Given the description of an element on the screen output the (x, y) to click on. 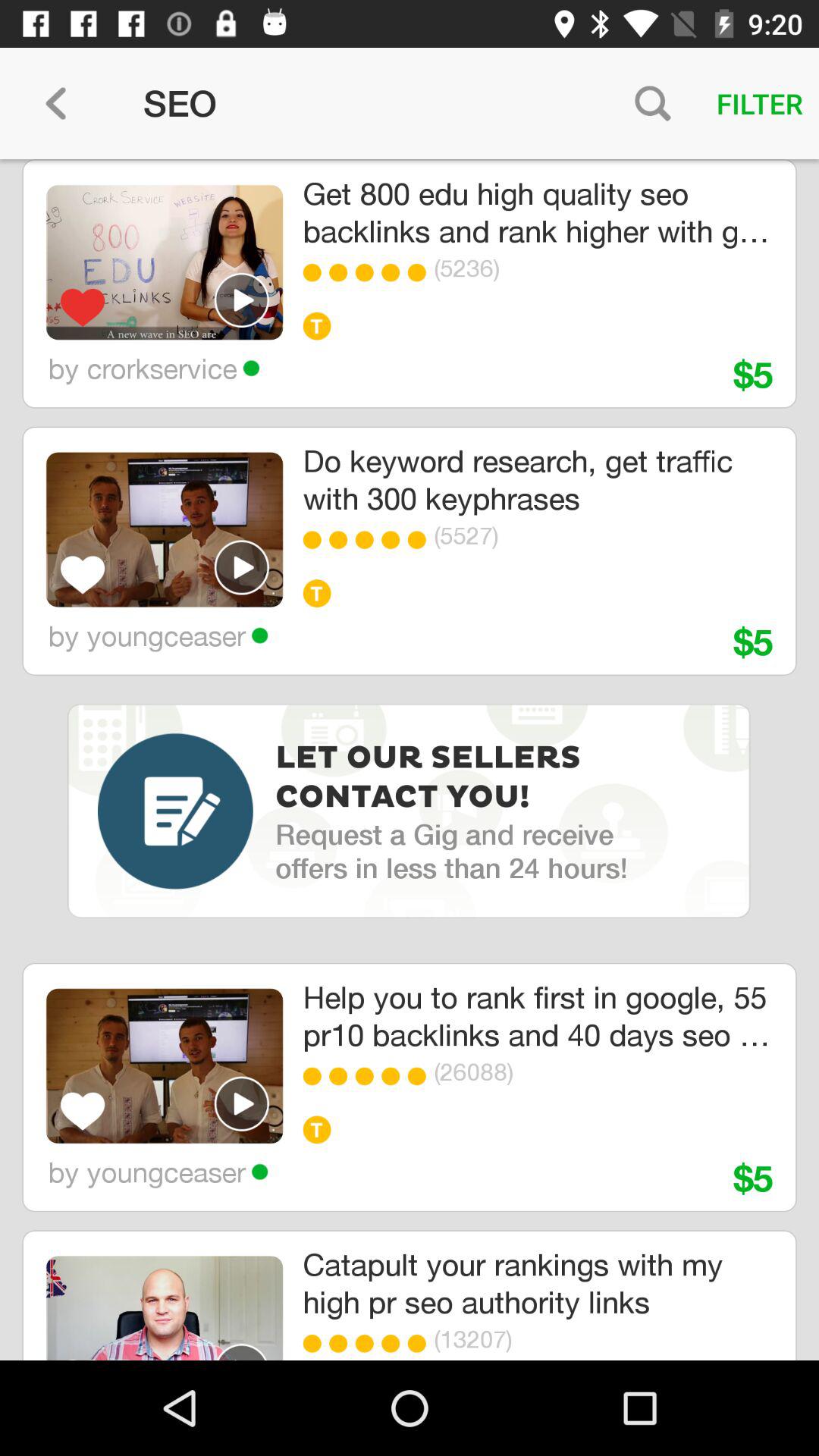
tap item below the by crorkservice item (164, 529)
